Given the description of an element on the screen output the (x, y) to click on. 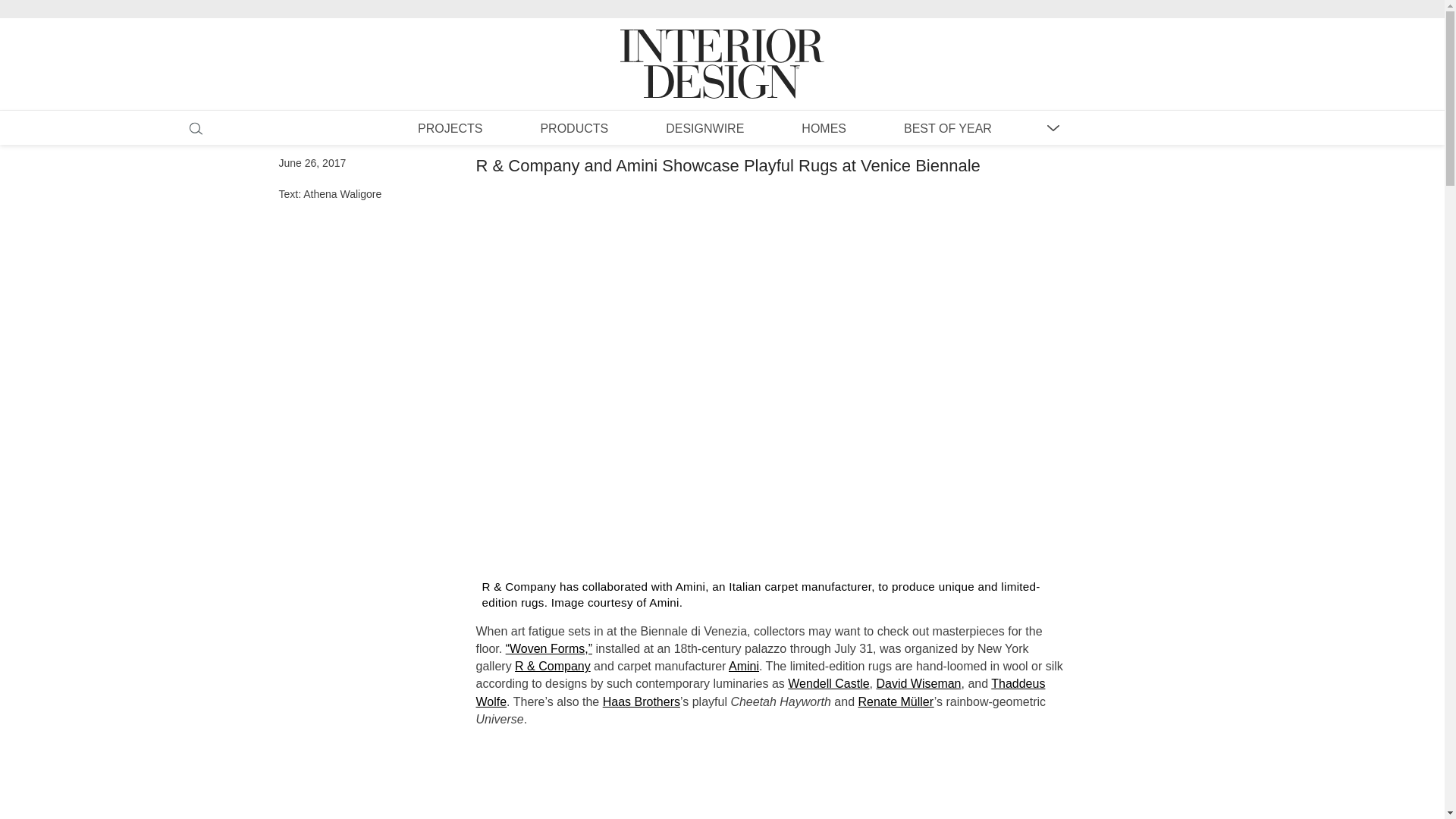
Interior Design (721, 49)
Thaddeus Wolfe (760, 692)
HOMES (823, 127)
PROJECTS (449, 127)
David Wiseman (918, 683)
Wendell Castle (828, 683)
Amini (743, 666)
DESIGNWIRE (704, 127)
PRODUCTS (573, 127)
BEST OF YEAR (947, 127)
